Given the description of an element on the screen output the (x, y) to click on. 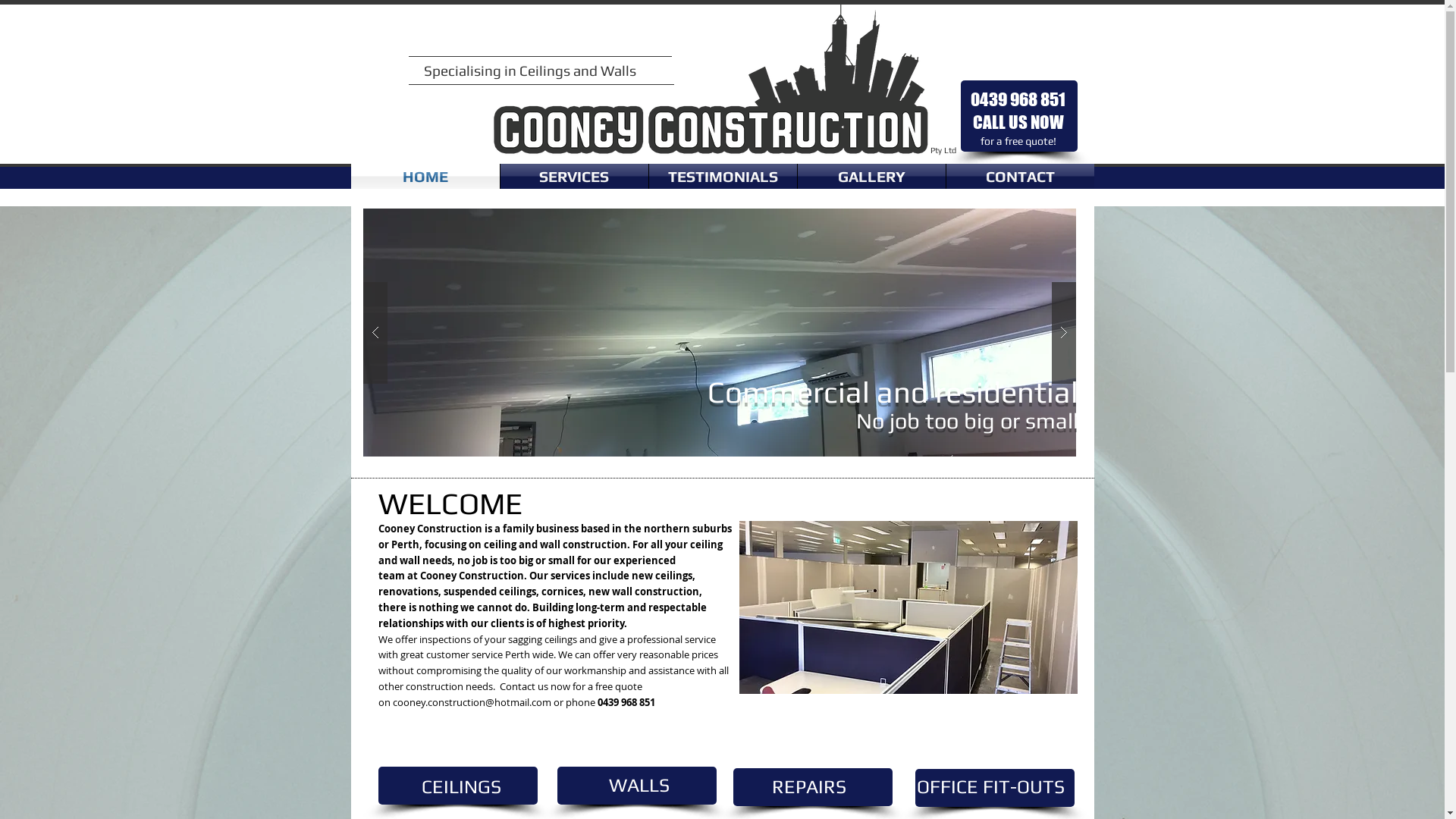
OFFICE FIT-OUTS Element type: text (990, 786)
REPAIRS Element type: text (808, 786)
WALLS Element type: text (638, 785)
HOME Element type: text (424, 175)
photo (4).JPG Element type: hover (907, 606)
TESTIMONIALS Element type: text (723, 175)
Specialising in Ceilings and Walls Element type: text (529, 70)
CEILINGS Element type: text (461, 786)
GALLERY Element type: text (871, 175)
cooney.construction@hotmail.com Element type: text (471, 702)
CONTACT Element type: text (1020, 175)
SERVICES Element type: text (574, 175)
0439 968 851 Element type: text (1017, 98)
Pty Ltd Element type: text (942, 149)
